Given the description of an element on the screen output the (x, y) to click on. 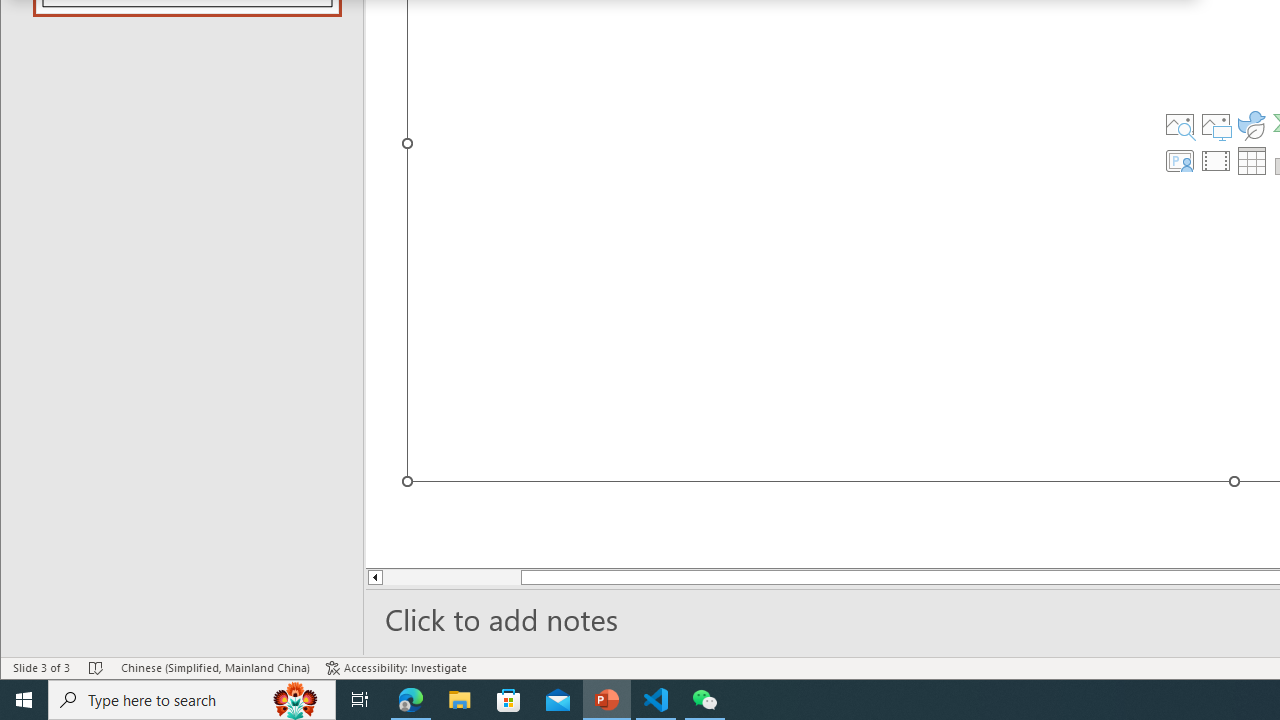
Insert Cameo (1179, 160)
Pictures (1215, 124)
WeChat - 1 running window (704, 699)
Microsoft Edge - 1 running window (411, 699)
Insert an Icon (1252, 124)
